Given the description of an element on the screen output the (x, y) to click on. 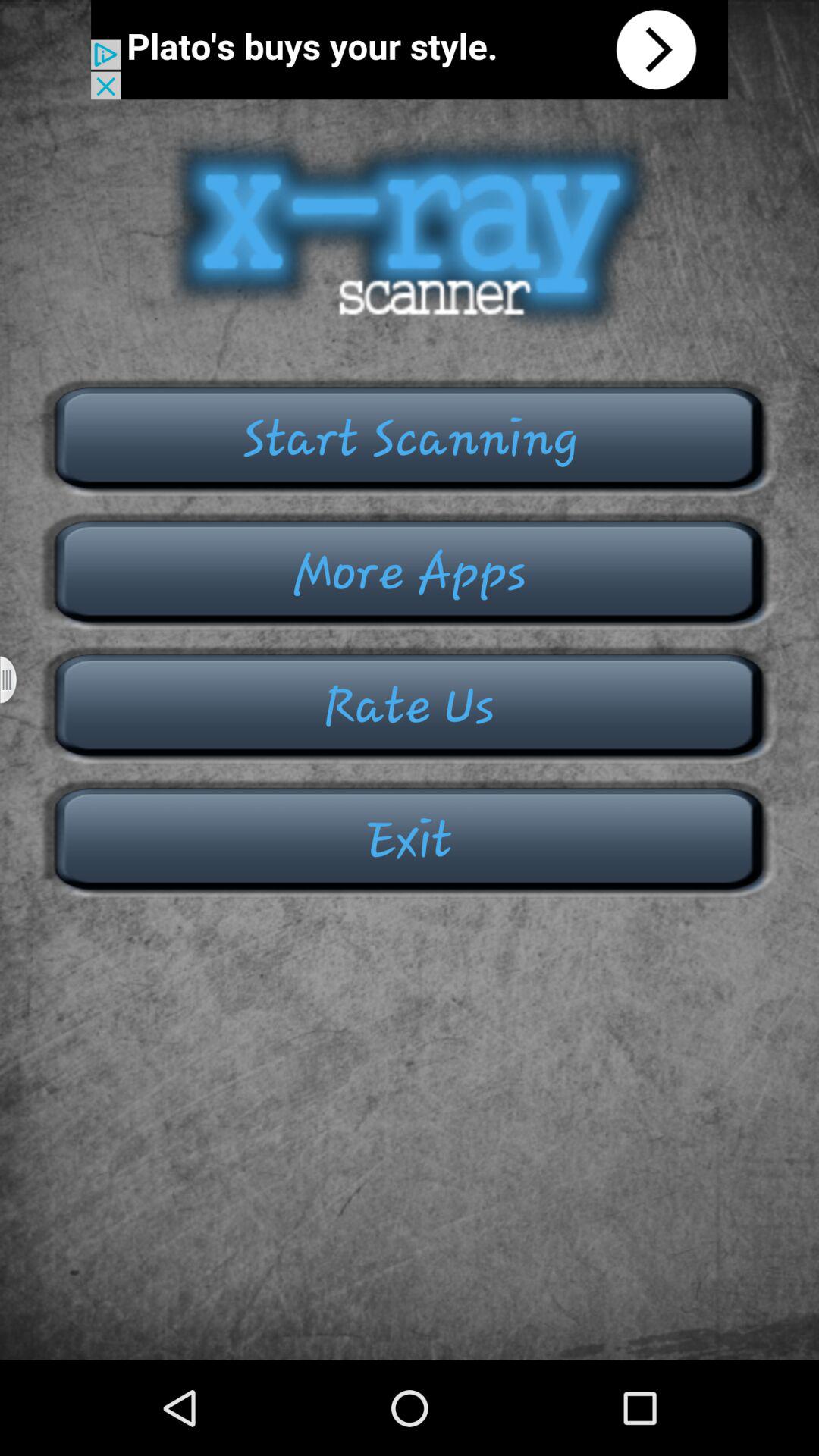
go back (409, 49)
